Given the description of an element on the screen output the (x, y) to click on. 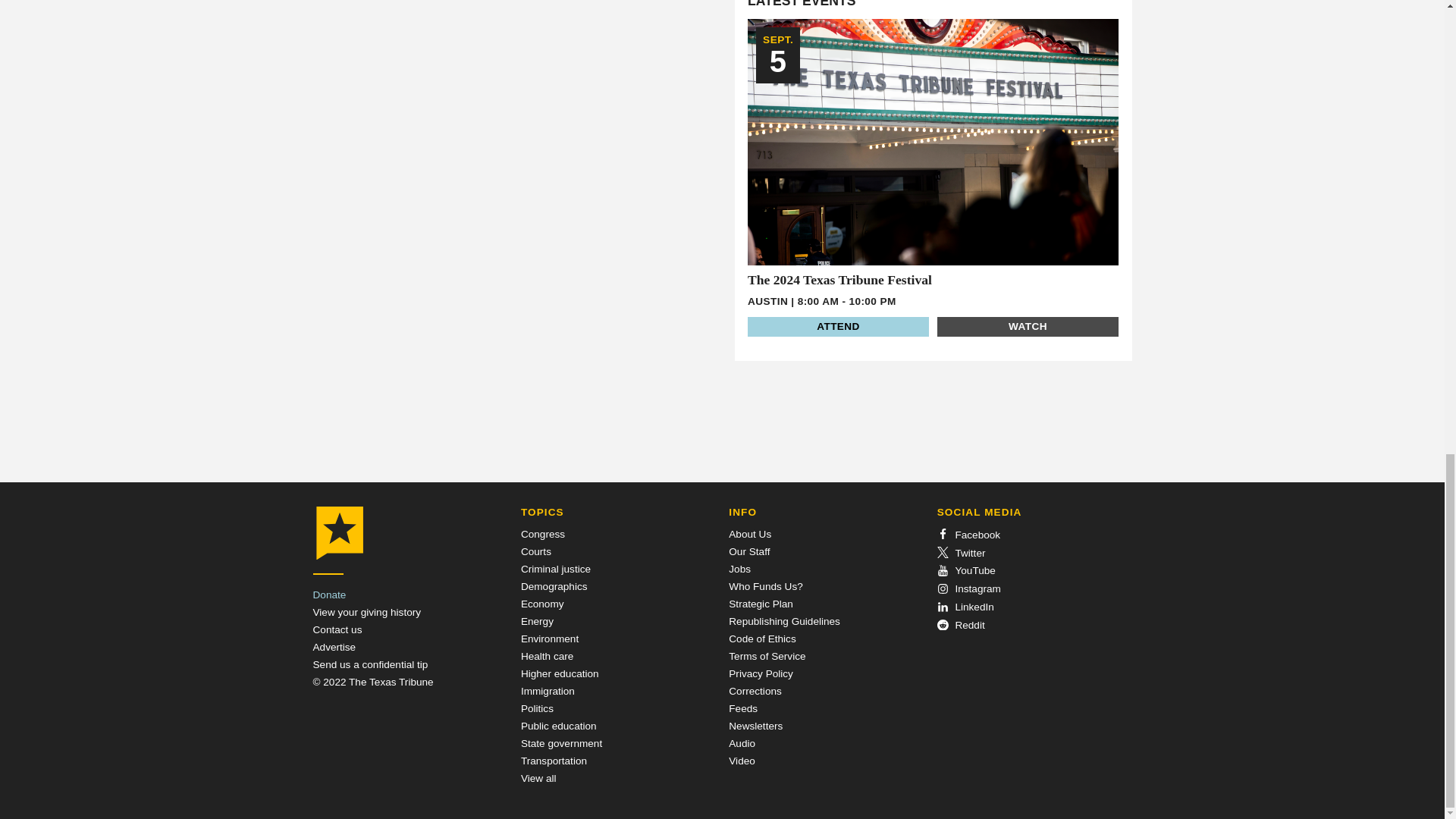
Terms of Service (767, 655)
Feeds (743, 708)
ATTEND (838, 326)
Strategic Plan (761, 603)
Audio (742, 743)
Send a Tip (370, 664)
Republishing Guidelines (784, 621)
The 2024 Texas Tribune Festival (839, 279)
Privacy Policy (761, 673)
Facebook (968, 534)
